Given the description of an element on the screen output the (x, y) to click on. 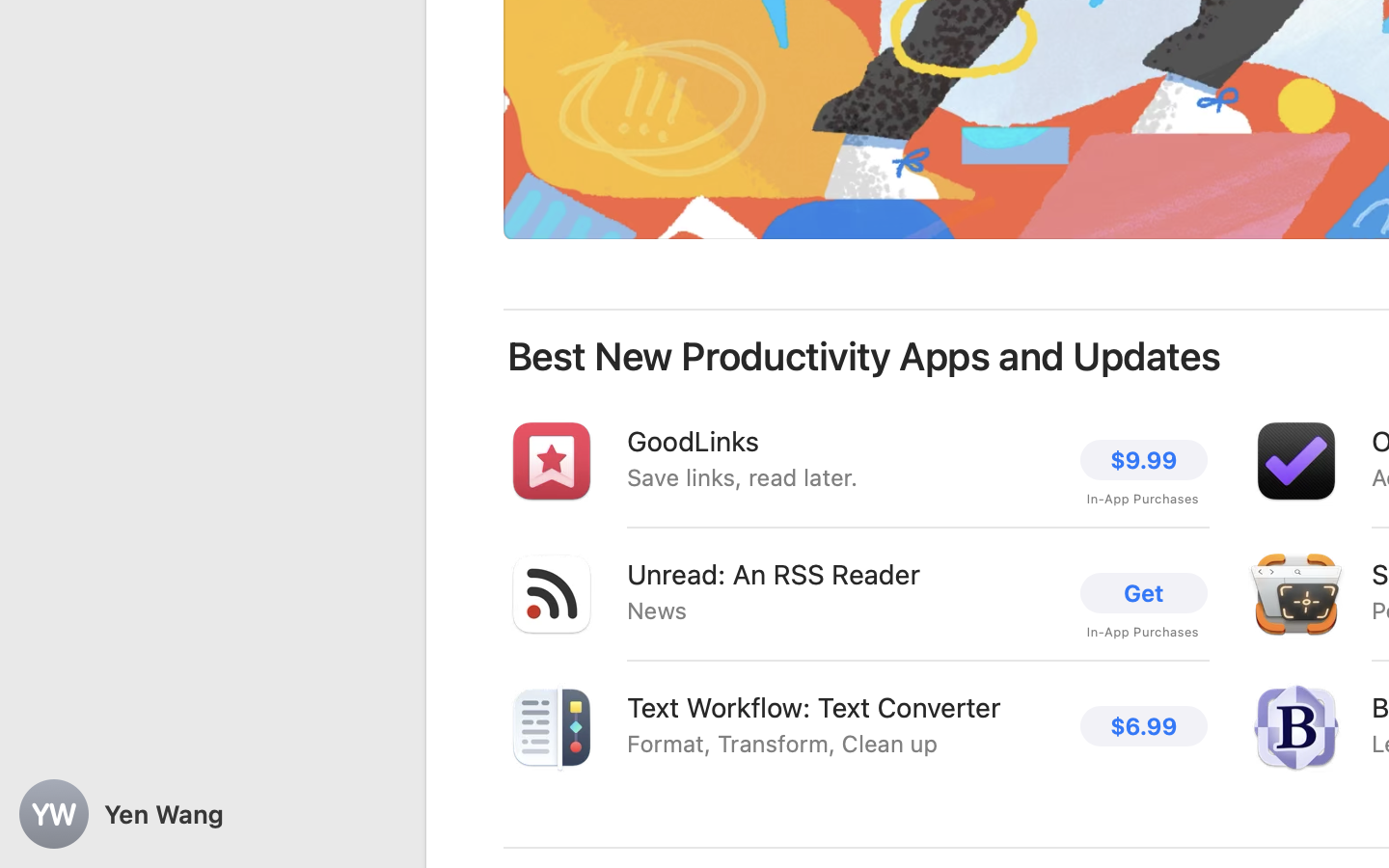
Best New Productivity Apps and Updates Element type: AXStaticText (864, 356)
Yen Wang Element type: AXButton (212, 813)
